Given the description of an element on the screen output the (x, y) to click on. 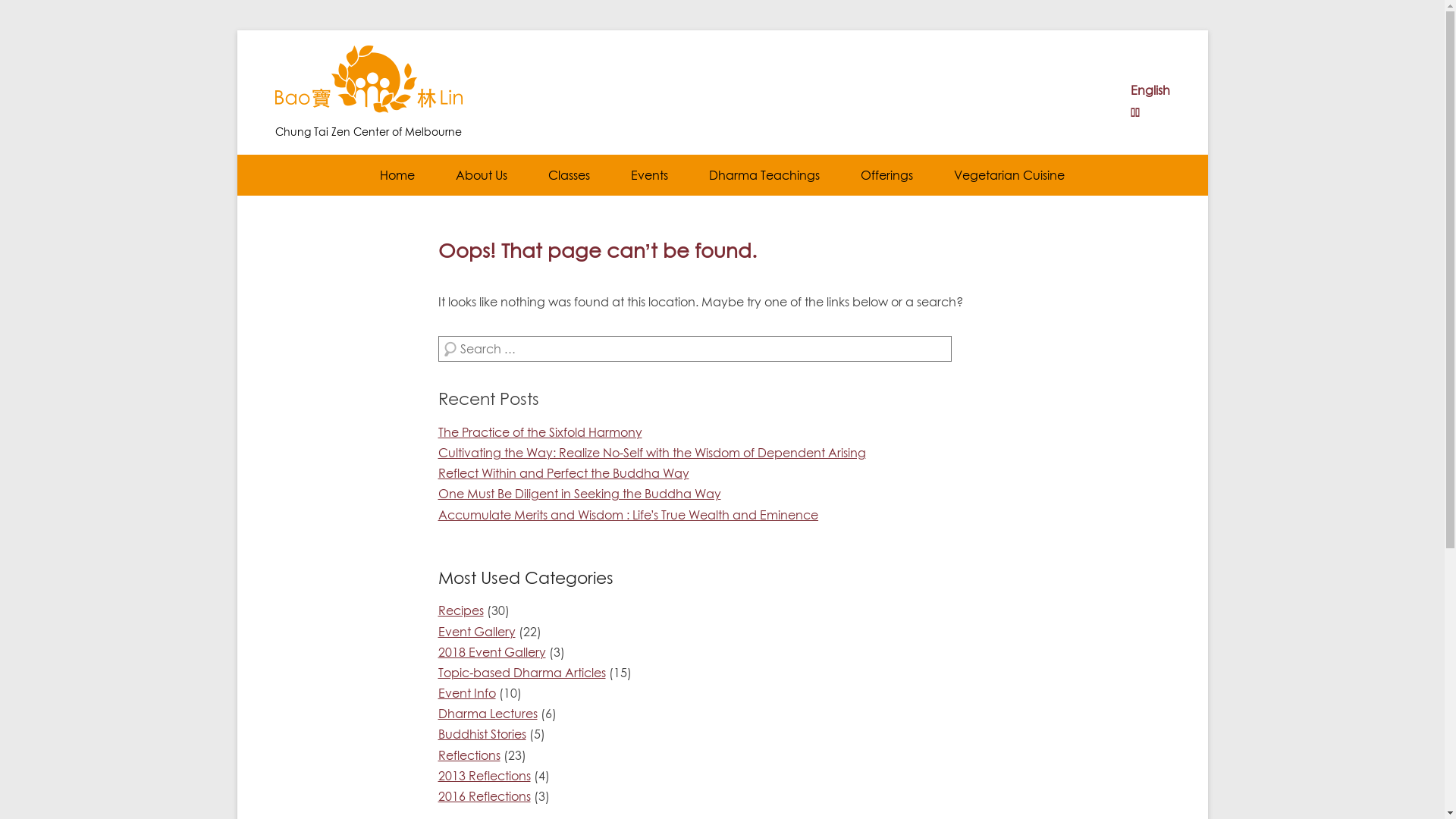
2016 Reflections Element type: text (484, 795)
Topic-based Dharma Articles Element type: text (521, 672)
Event Info Element type: text (466, 692)
Classes Element type: text (568, 174)
Event Gallery Element type: text (476, 630)
English Element type: text (1149, 89)
Reflections Element type: text (469, 754)
Recipes Element type: text (460, 610)
Buddhist Stories Element type: text (482, 733)
Offerings Element type: text (886, 174)
One Must Be Diligent in Seeking the Buddha Way Element type: text (579, 493)
2013 Reflections Element type: text (484, 775)
2018 Event Gallery Element type: text (492, 651)
The Practice of the Sixfold Harmony Element type: text (540, 431)
Dharma Teachings Element type: text (764, 174)
Home Element type: text (396, 174)
Reflect Within and Perfect the Buddha Way Element type: text (563, 472)
Dharma Lectures Element type: text (487, 713)
Vegetarian Cuisine Element type: text (1009, 174)
Events Element type: text (649, 174)
Search Element type: text (33, 14)
About Us Element type: text (481, 174)
